Given the description of an element on the screen output the (x, y) to click on. 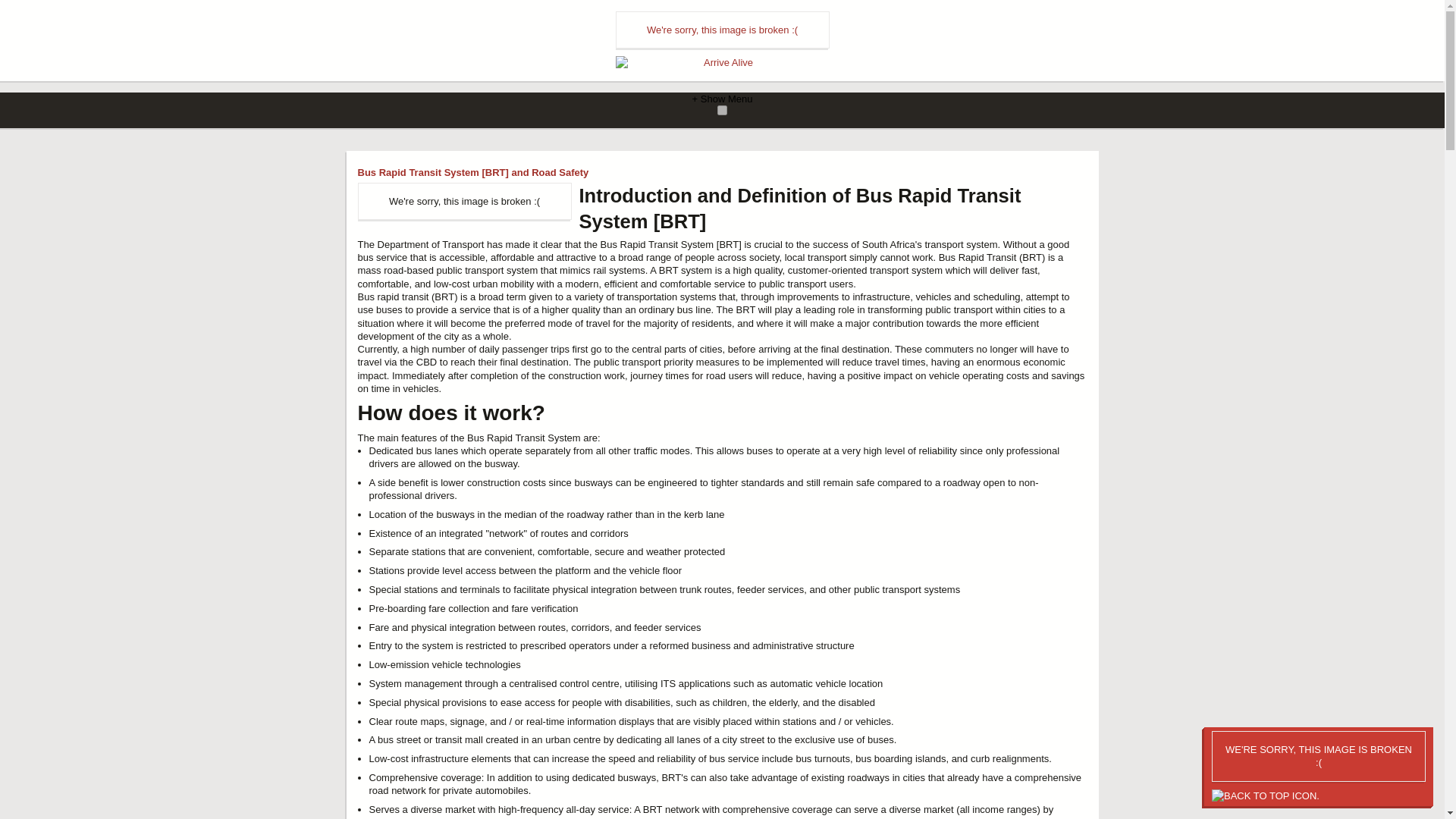
on (721, 110)
